Given the description of an element on the screen output the (x, y) to click on. 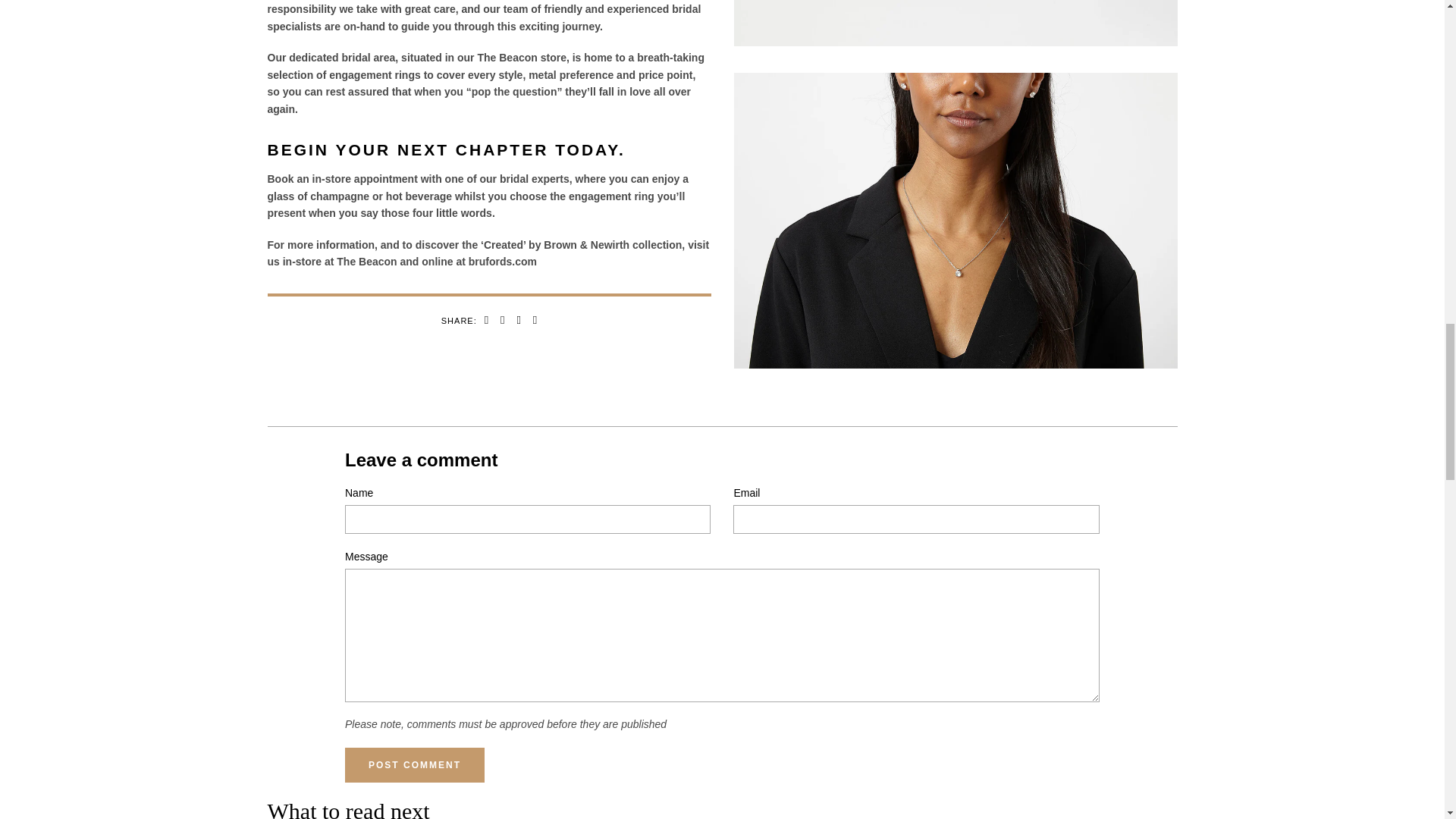
Post comment (414, 764)
Share on Facebook (486, 320)
Tweet on Twitter (502, 320)
Share on Mail (532, 320)
Pin on Pinterest (518, 320)
